Given the description of an element on the screen output the (x, y) to click on. 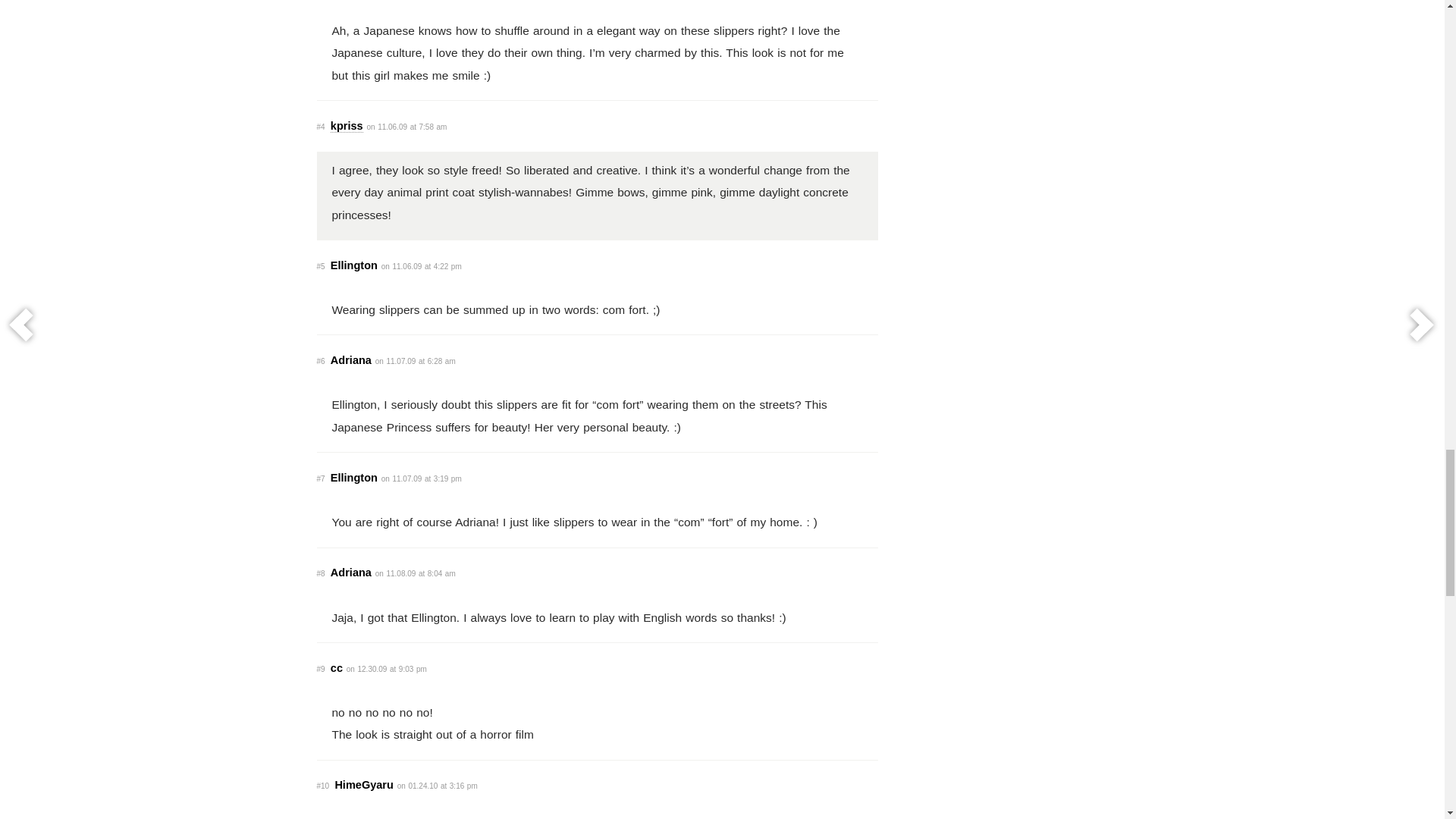
Permalink to this comment (320, 573)
Permalink to this comment (320, 266)
Permalink to this comment (320, 479)
Permalink to this comment (323, 786)
kpriss (346, 125)
Permalink to this comment (320, 669)
Permalink to this comment (320, 126)
Permalink to this comment (320, 361)
